Given the description of an element on the screen output the (x, y) to click on. 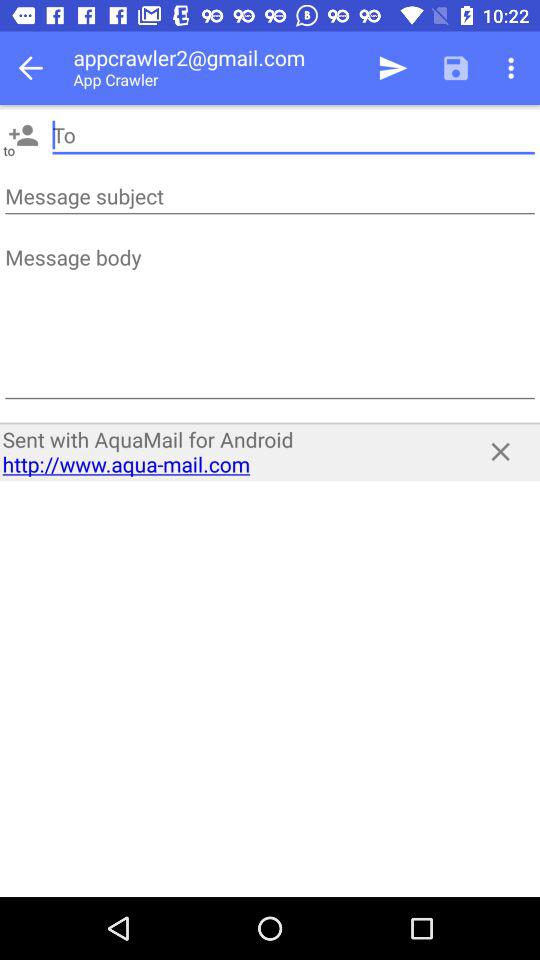
turn off icon next to the appcrawler2@gmail.com (392, 67)
